Given the description of an element on the screen output the (x, y) to click on. 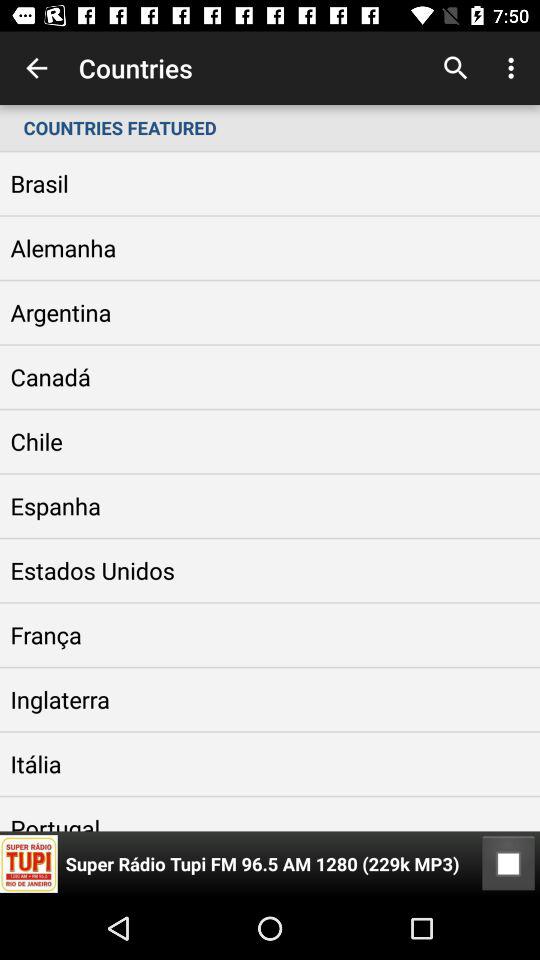
open icon next to countries icon (455, 67)
